Given the description of an element on the screen output the (x, y) to click on. 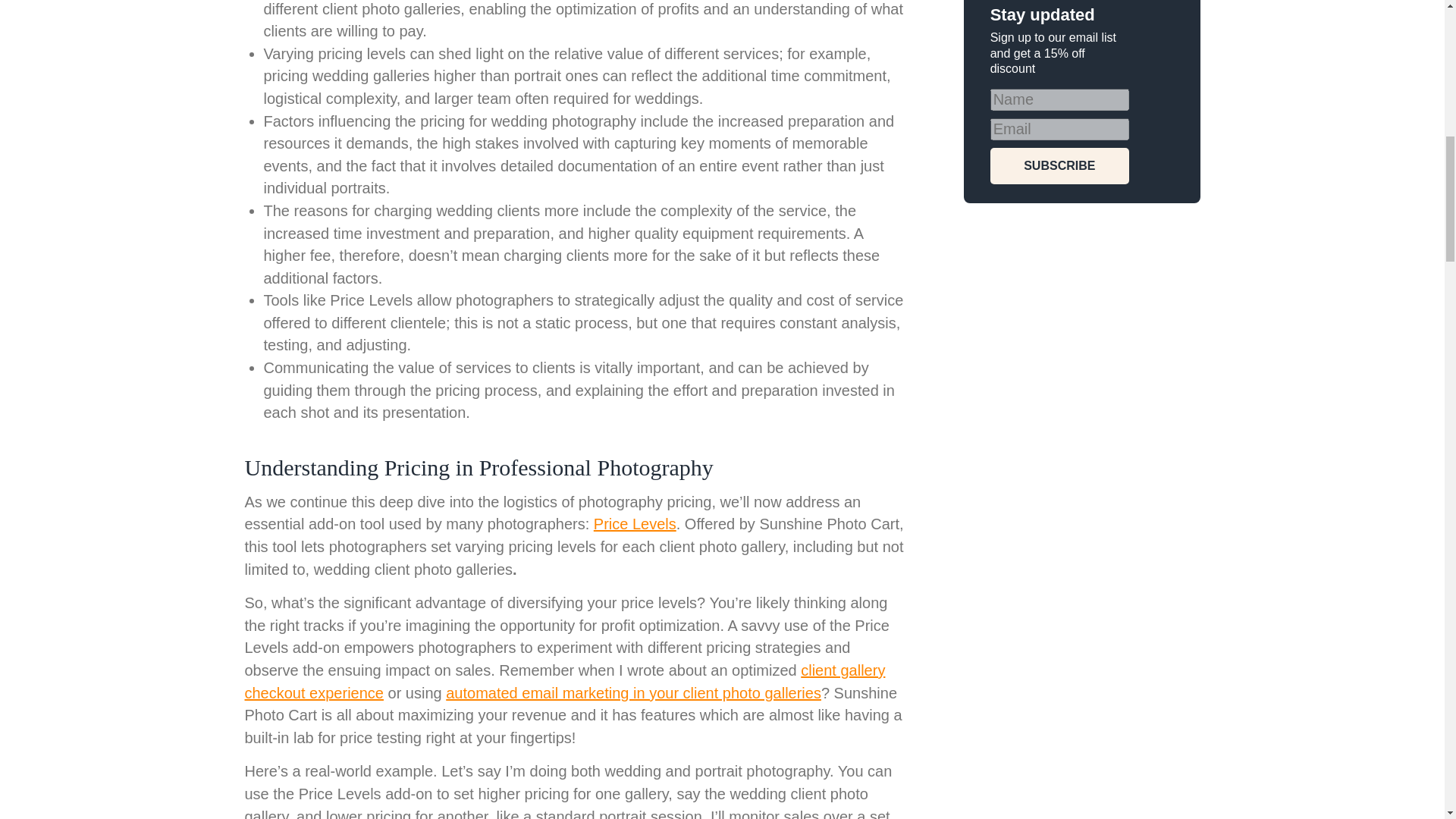
automated email marketing in your client photo galleries (633, 692)
client gallery checkout experience (564, 681)
Price Levels (635, 523)
SUBSCRIBE (1059, 166)
